Given the description of an element on the screen output the (x, y) to click on. 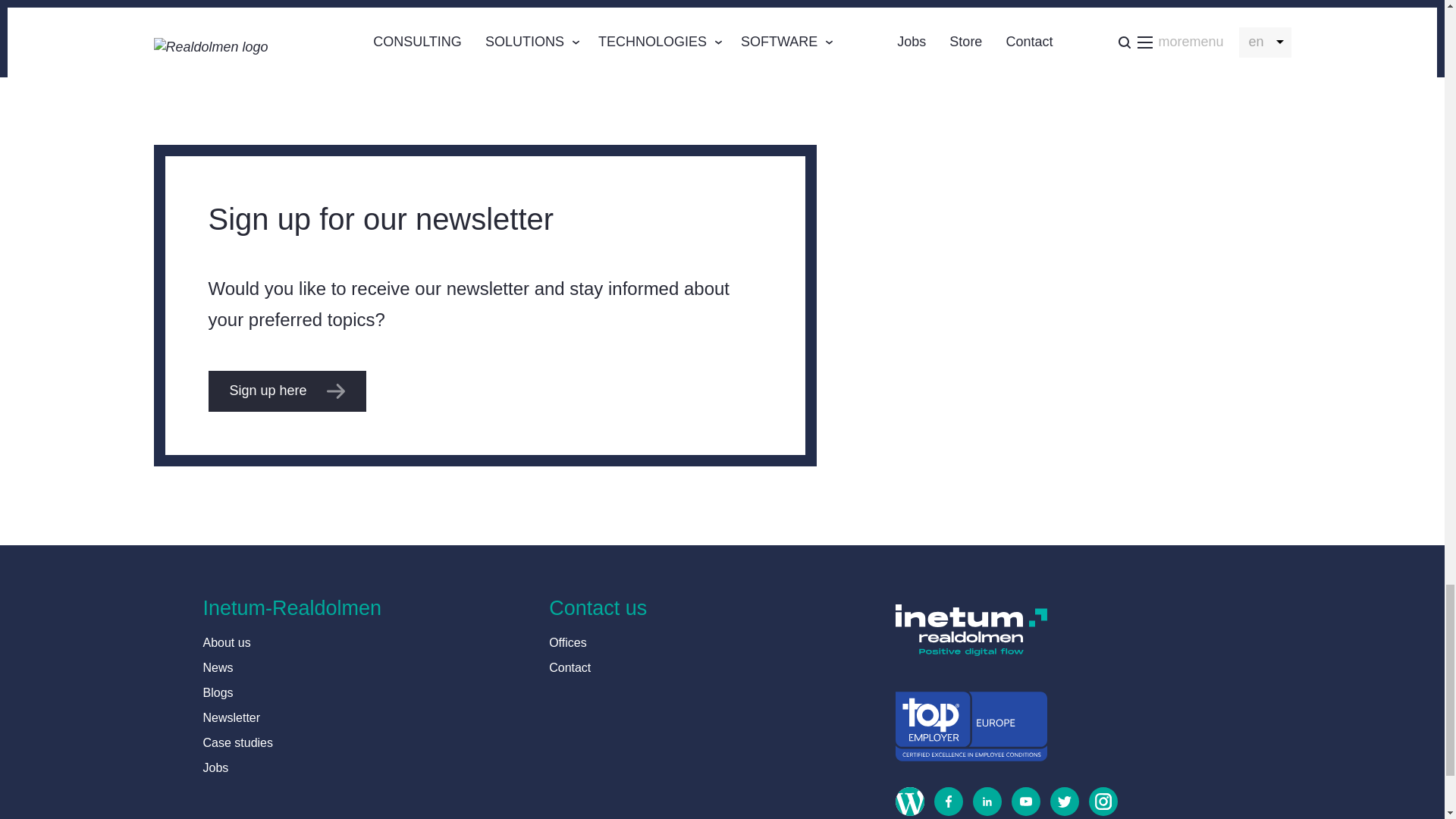
LinkedIn (981, 803)
Twitter (1059, 803)
Instagram (1098, 803)
Youtube (1021, 803)
Blog (904, 803)
Facebook (943, 803)
